Given the description of an element on the screen output the (x, y) to click on. 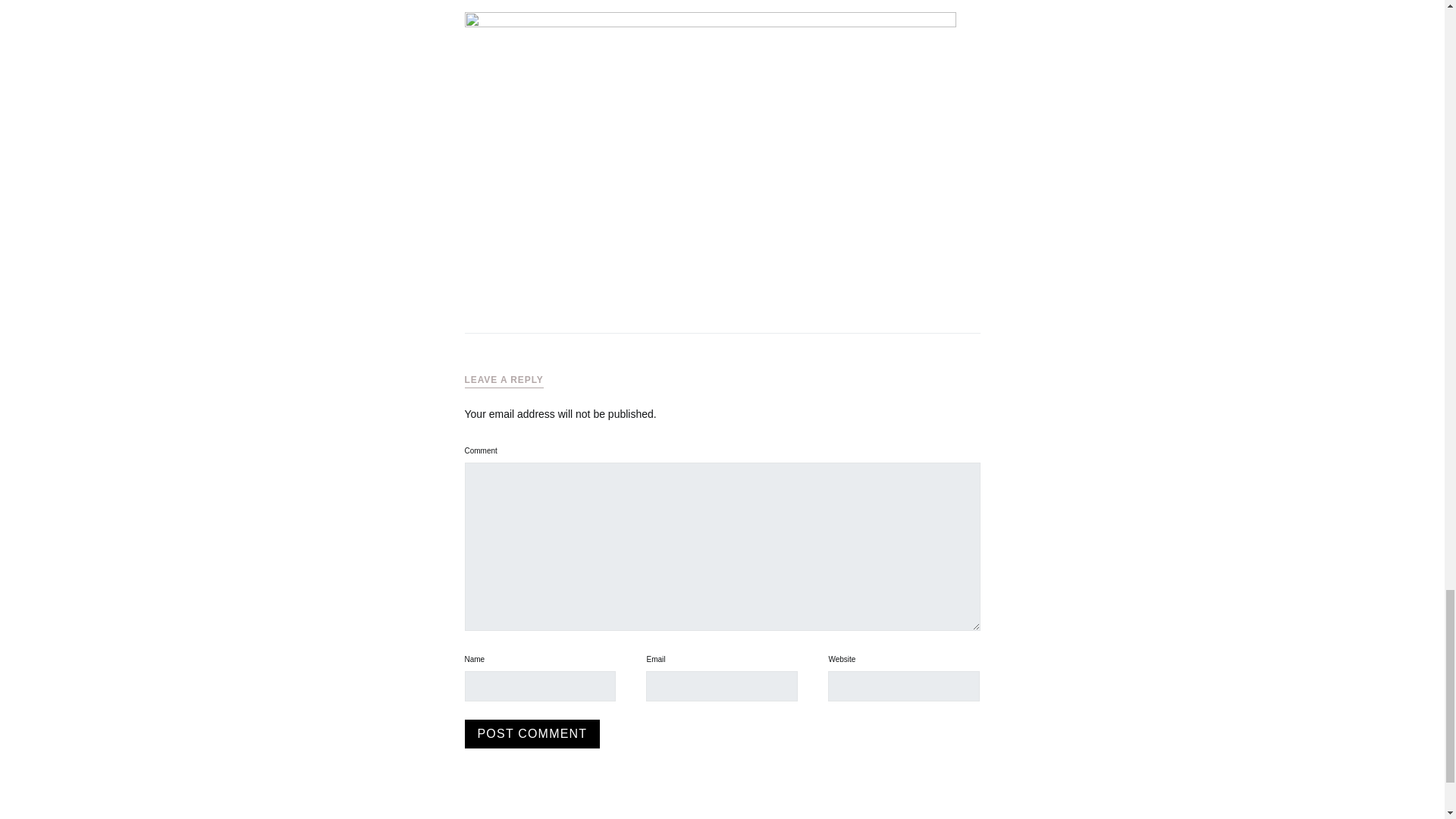
Post Comment (531, 733)
